Given the description of an element on the screen output the (x, y) to click on. 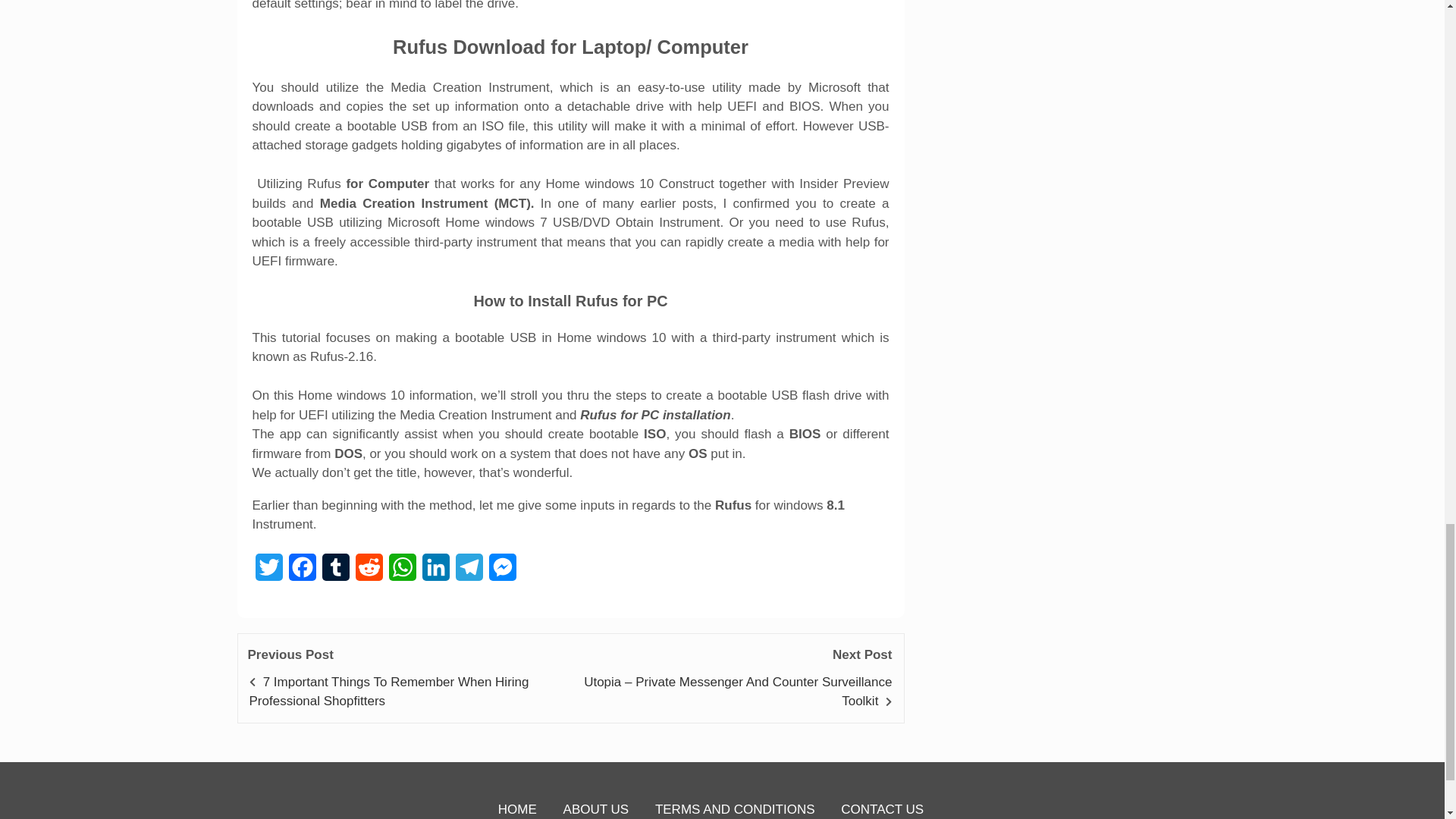
Telegram (467, 571)
Messenger (501, 571)
Tumblr (335, 571)
Twitter (268, 571)
LinkedIn (435, 571)
WhatsApp (402, 571)
Facebook (301, 571)
Reddit (368, 571)
Reddit (368, 571)
Twitter (268, 571)
Messenger (501, 571)
Facebook (301, 571)
Telegram (467, 571)
LinkedIn (435, 571)
